Given the description of an element on the screen output the (x, y) to click on. 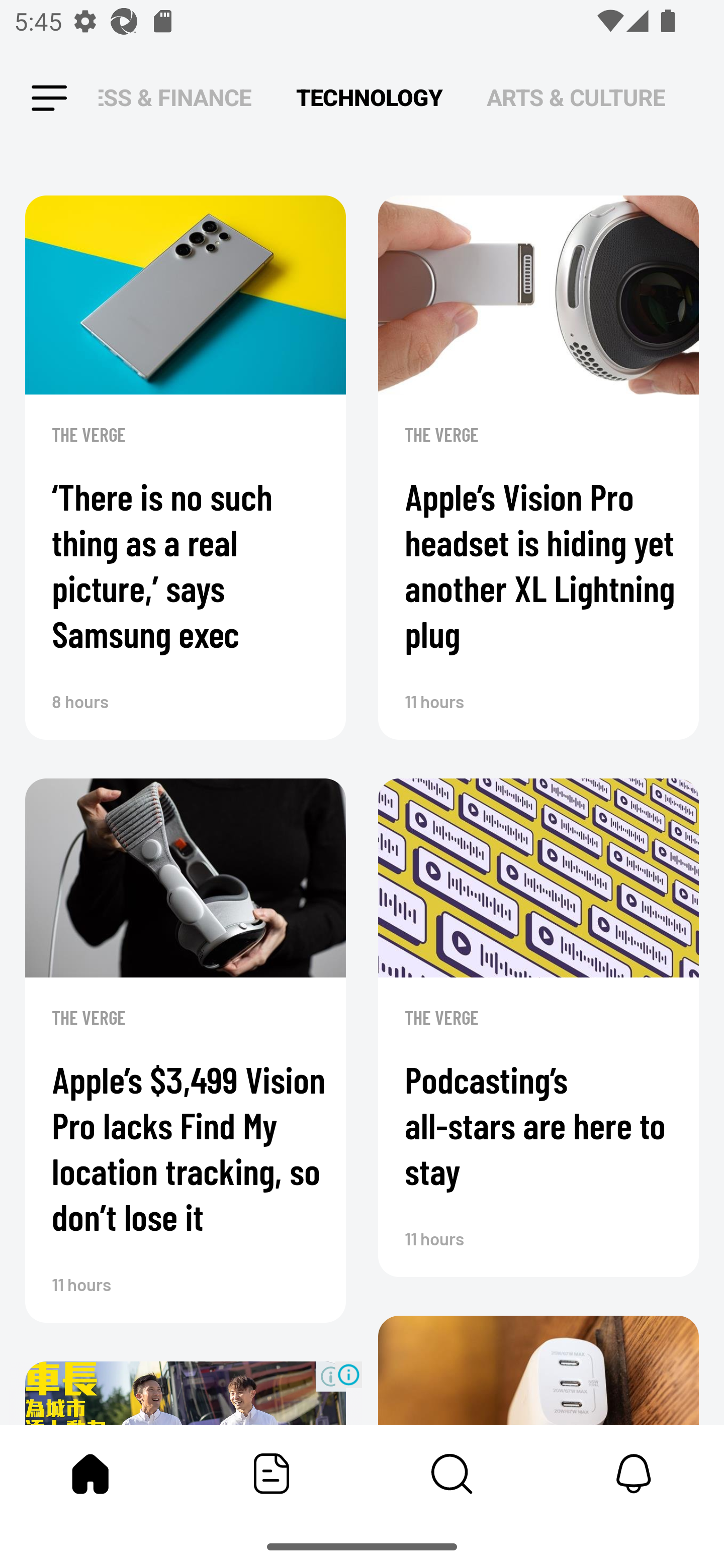
Leading Icon (49, 98)
BUSINESS & FINANCE (174, 97)
ARTS & CULTURE (575, 97)
Ad Choices Icon (348, 1374)
Featured (271, 1473)
Content Store (452, 1473)
Notifications (633, 1473)
